Given the description of an element on the screen output the (x, y) to click on. 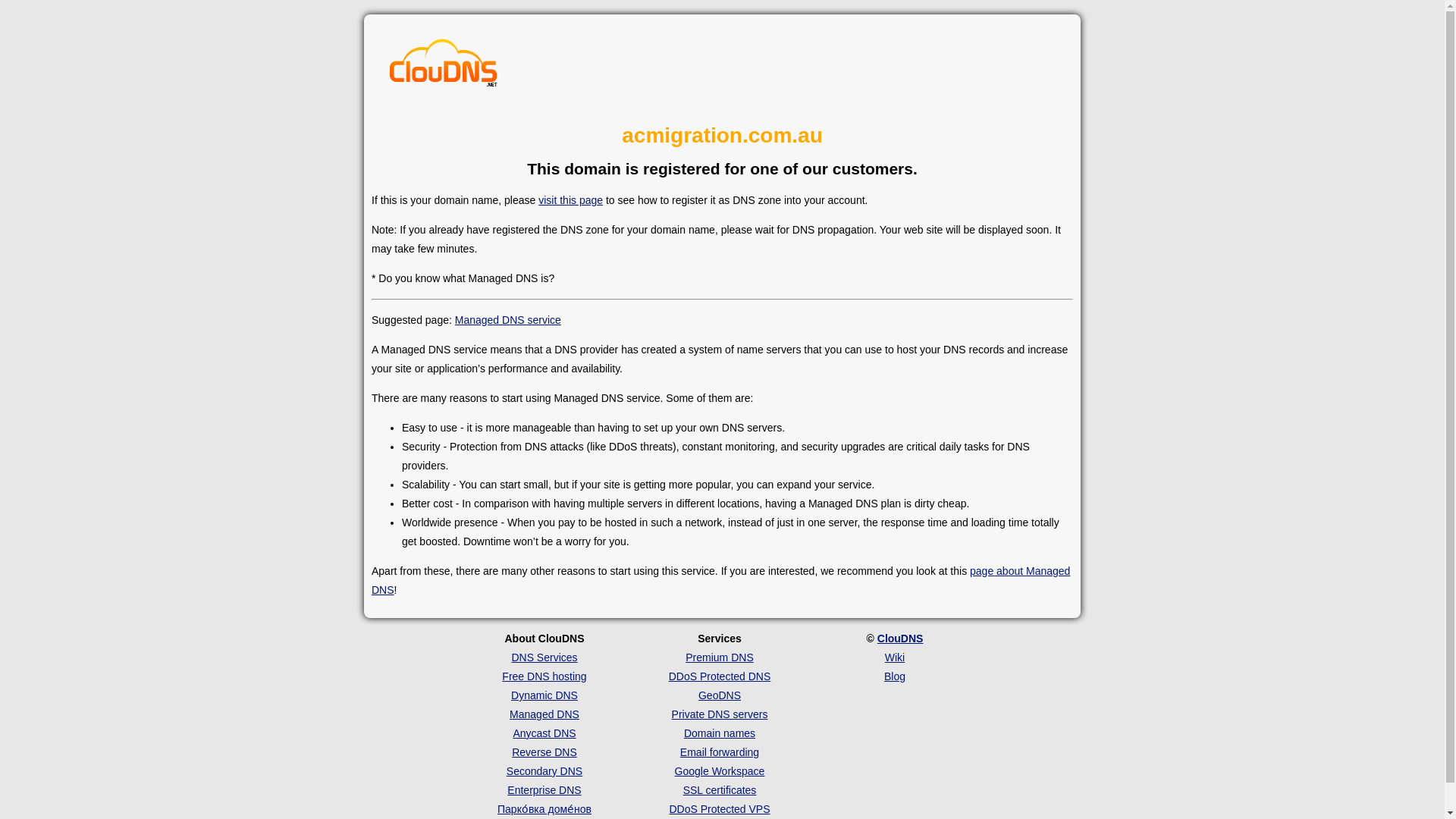
DNS Services (543, 657)
visit this page (570, 200)
page about Managed DNS (720, 580)
SSL certificates (719, 789)
GeoDNS (719, 695)
Blog (894, 676)
Managed DNS service (507, 319)
DDoS Protected VPS (719, 808)
Premium DNS (718, 657)
Managed DNS (544, 714)
